Given the description of an element on the screen output the (x, y) to click on. 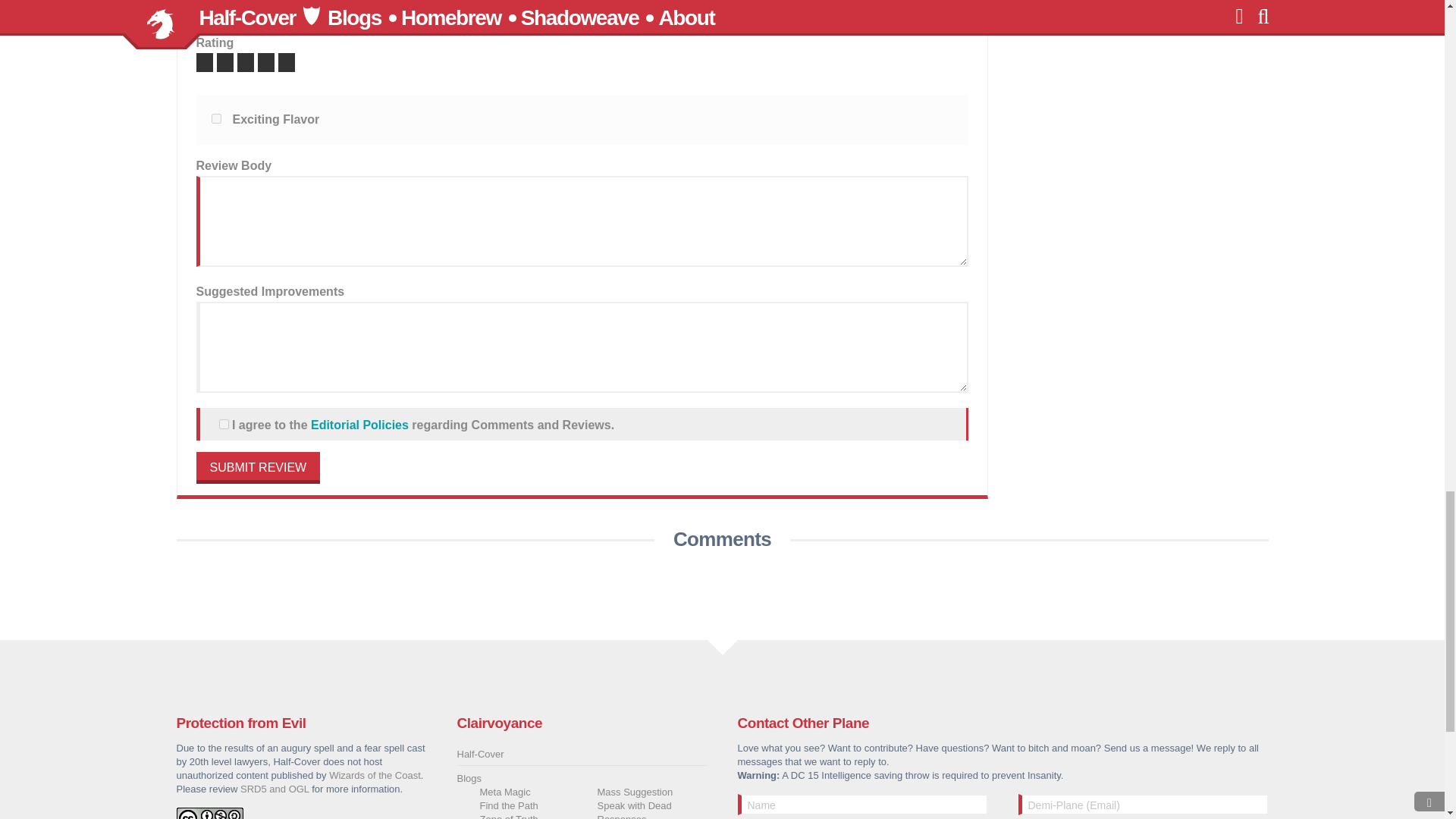
SUBMIT REVIEW (257, 468)
flavor (216, 118)
on (223, 424)
Editorial Policies (360, 424)
